Given the description of an element on the screen output the (x, y) to click on. 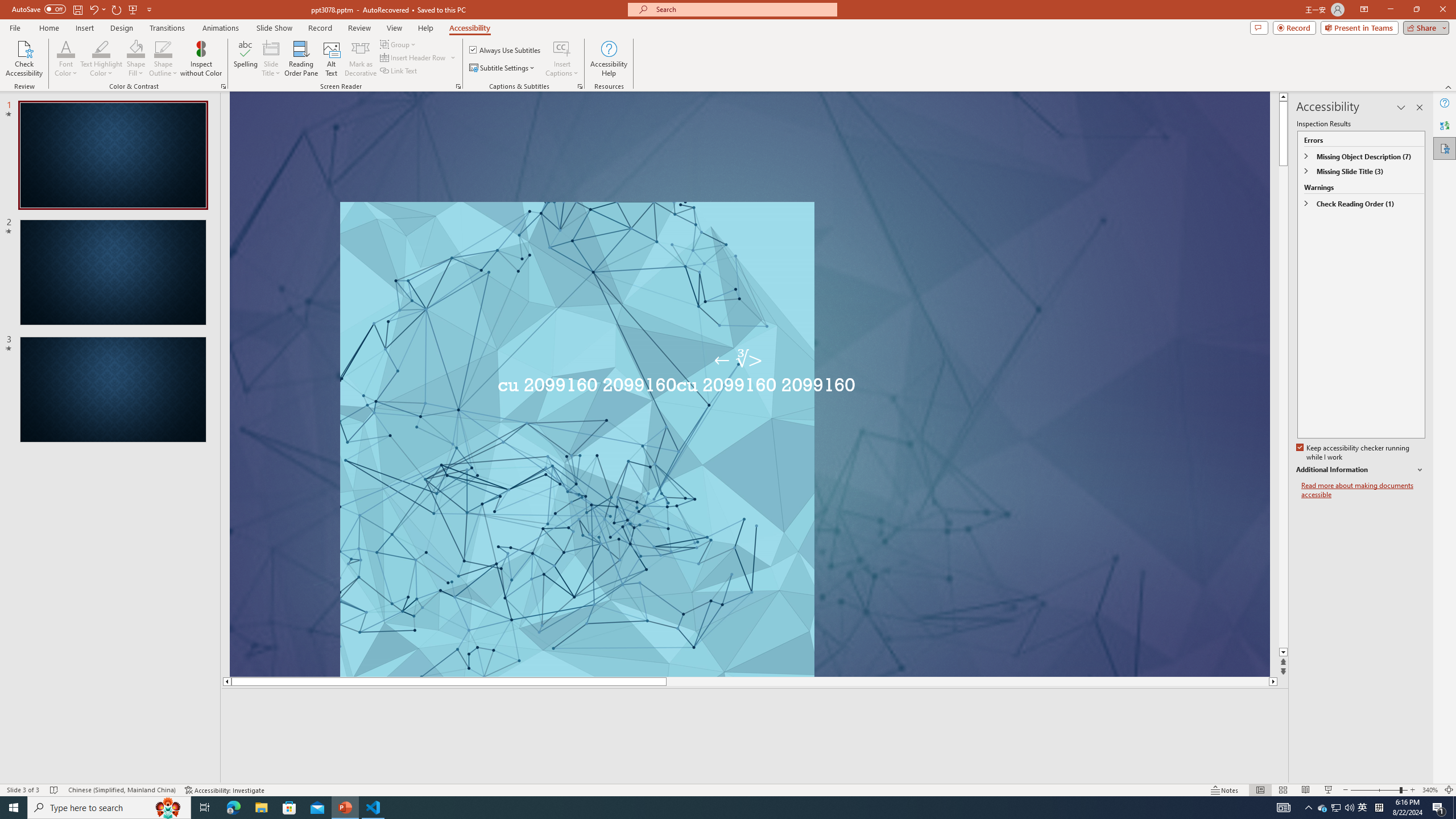
Always Use Subtitles (505, 49)
Subtitle Settings (502, 67)
Additional Information (1360, 469)
Slide Title (271, 48)
